Given the description of an element on the screen output the (x, y) to click on. 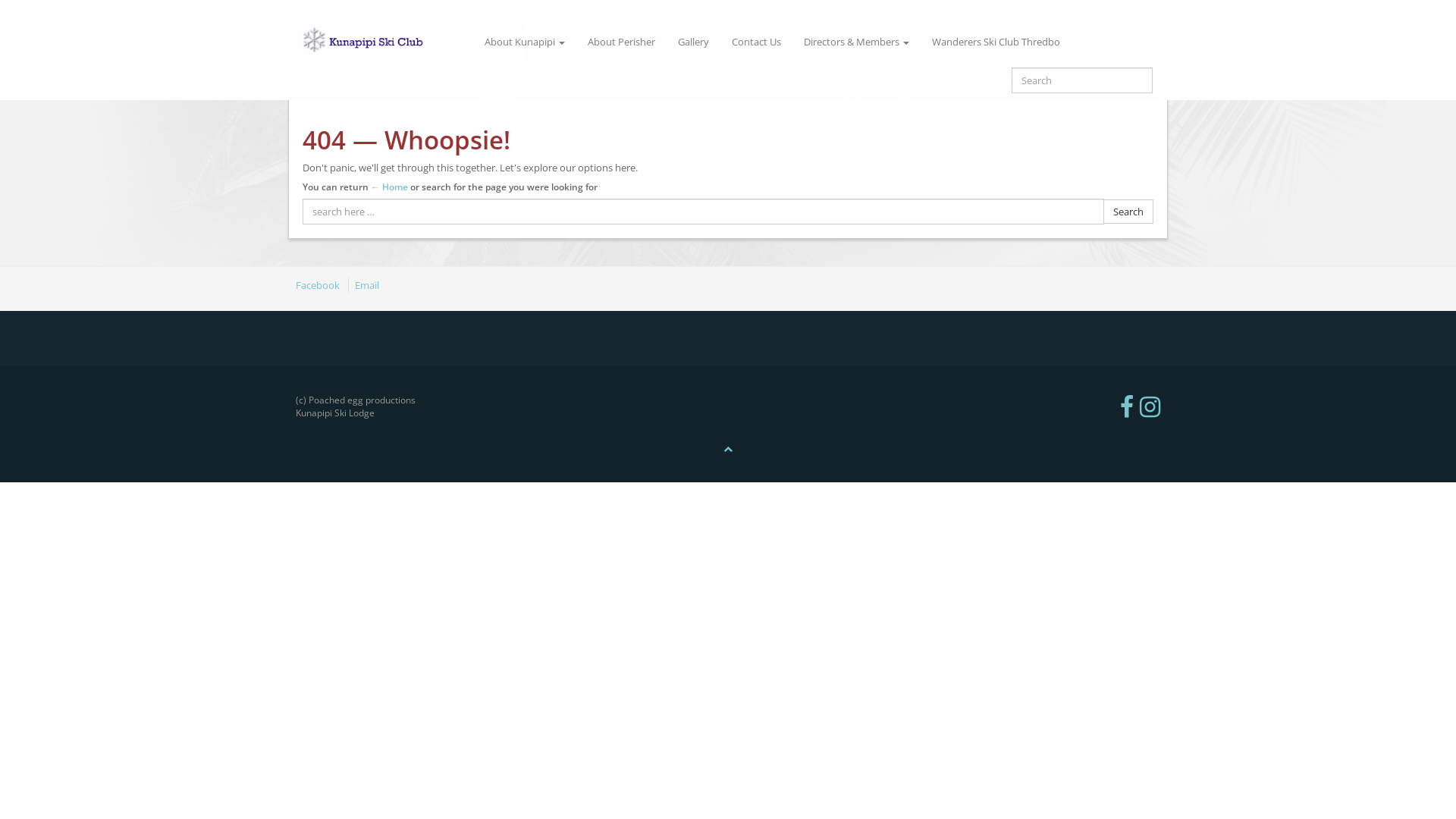
facebook Element type: hover (1129, 405)
Email Element type: text (366, 284)
Contact Us Element type: text (756, 41)
Directors & Members Element type: text (856, 41)
Facebook Element type: text (320, 284)
Wanderers Ski Club Thredbo Element type: text (995, 41)
About Kunapipi Element type: text (524, 41)
Gallery Element type: text (693, 41)
About Perisher Element type: text (621, 41)
instagram Element type: hover (1149, 405)
Scroll to top Element type: hover (727, 448)
Search Element type: text (1128, 211)
Kunapipi Ski Club Element type: hover (380, 41)
